Given the description of an element on the screen output the (x, y) to click on. 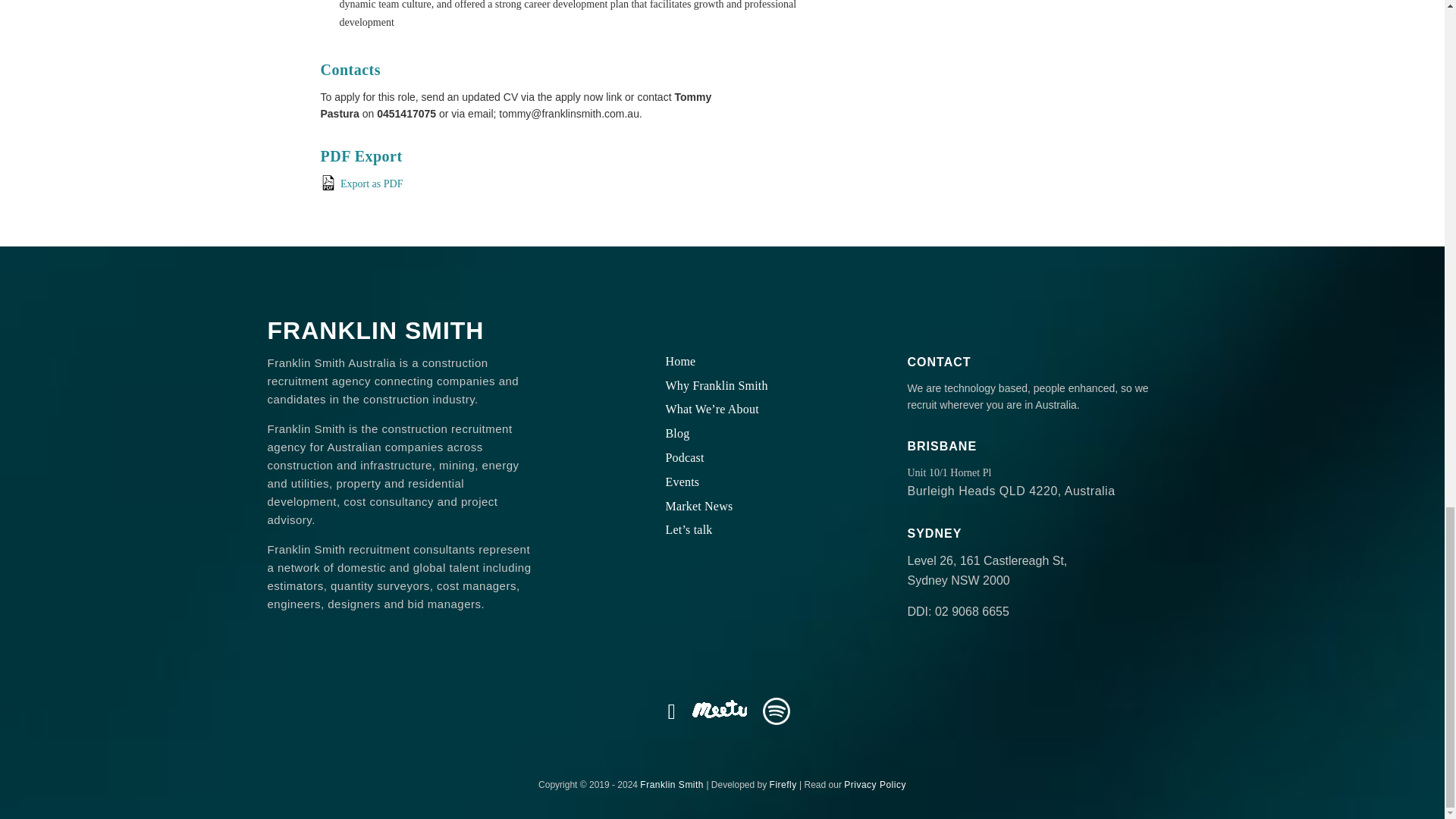
Home (680, 360)
Export as PDF (575, 184)
Why Franklin Smith (716, 385)
